Given the description of an element on the screen output the (x, y) to click on. 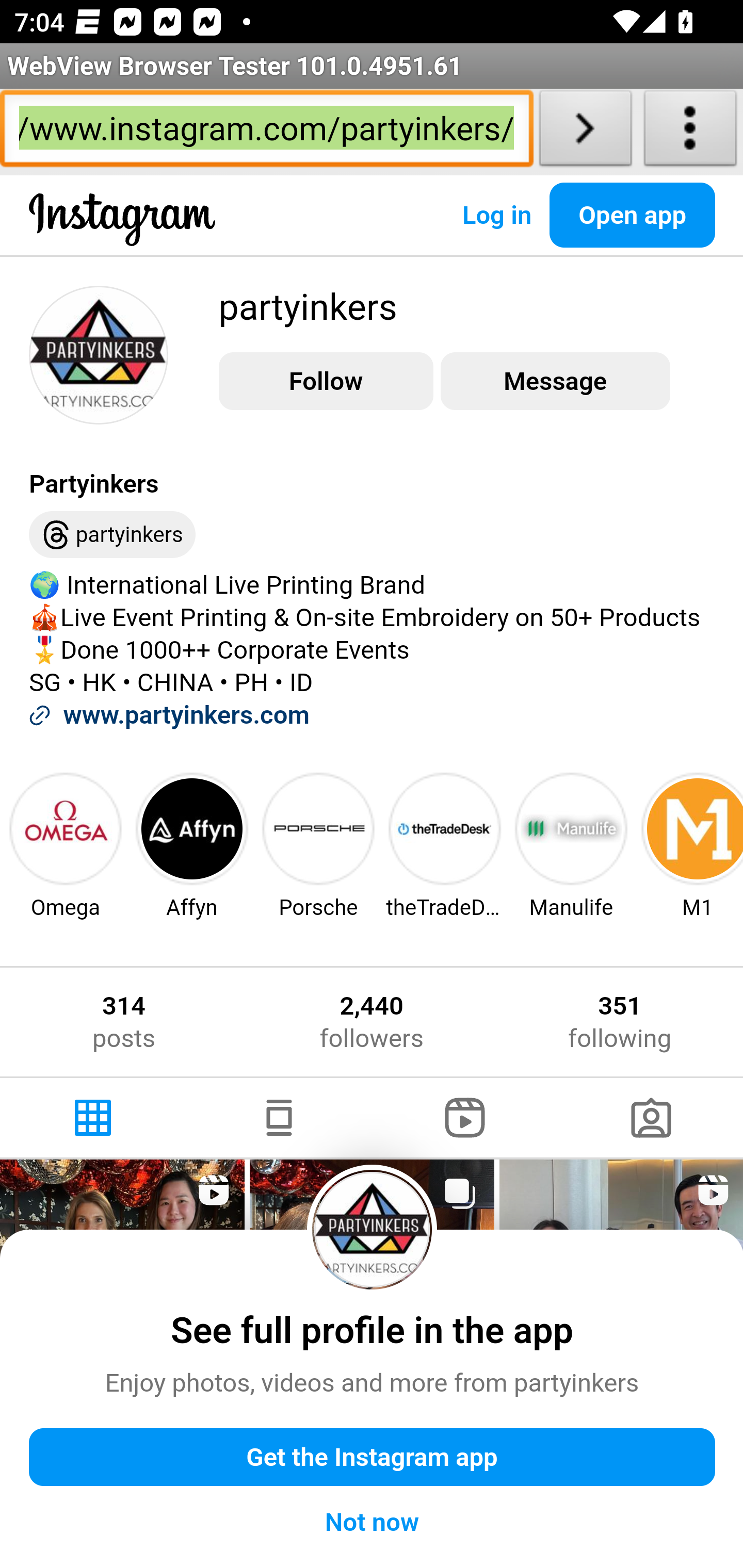
https://www.instagram.com/partyinkers/ (266, 132)
Load URL (585, 132)
About WebView (690, 132)
Log in (495, 214)
Open app (632, 214)
Instagram Instagram Instagram Instagram (122, 234)
partyinkers's profile picture (98, 353)
Follow (325, 381)
Message (554, 381)
Threads partyinkers Threads partyinkers (112, 535)
www.partyinkers.com (185, 714)
M1's profile picture M1 M1's profile picture M1 (690, 844)
314 posts (124, 1021)
2,440 followers (371, 1021)
351 following (619, 1021)
Posts (93, 1117)
Feed (278, 1117)
Reels (465, 1117)
Tagged (649, 1117)
partyinkers's profile picture (372, 1229)
Get the Instagram app (372, 1458)
Not now (372, 1521)
